Given the description of an element on the screen output the (x, y) to click on. 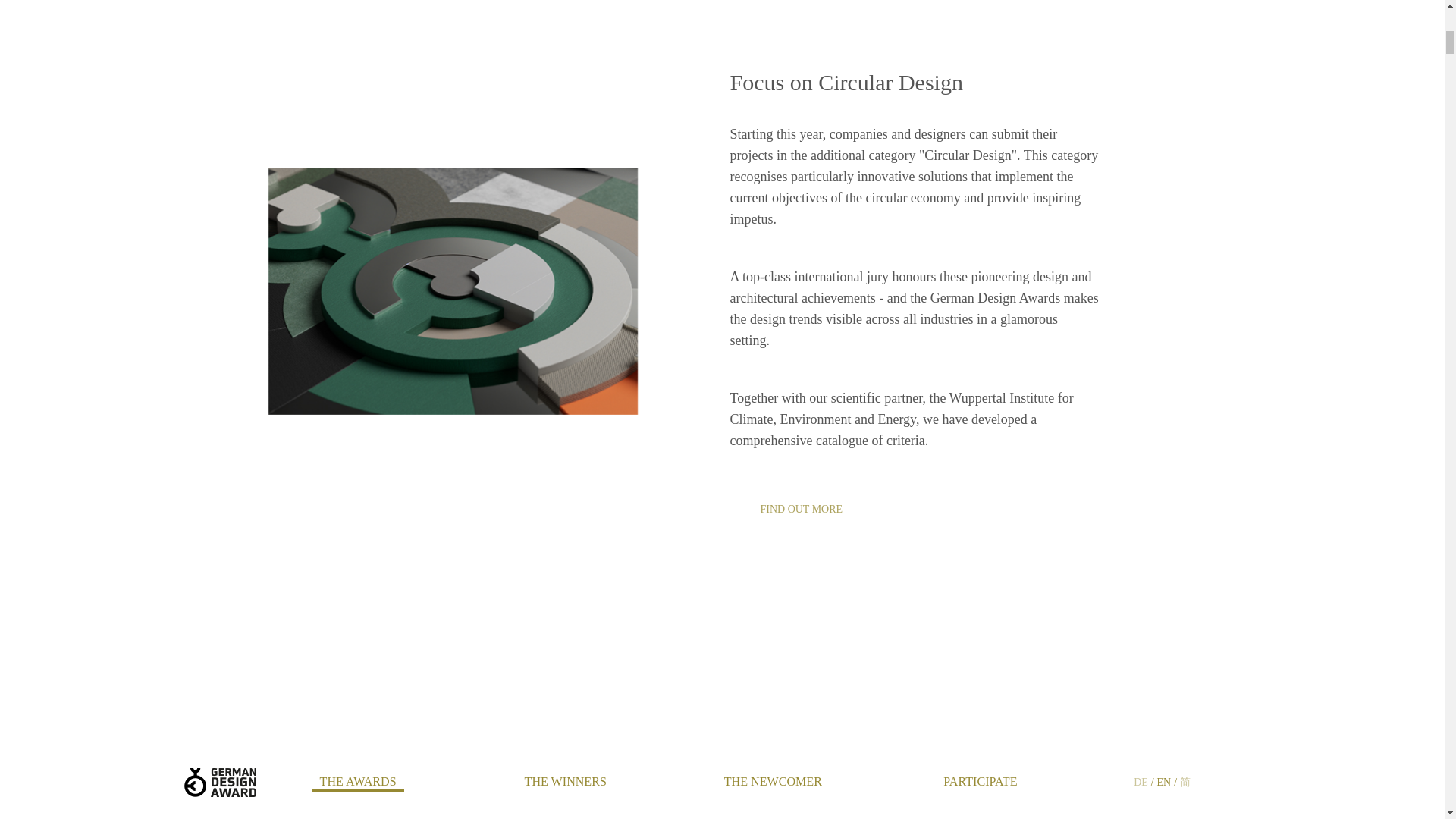
FIND OUT MORE (799, 509)
